Given the description of an element on the screen output the (x, y) to click on. 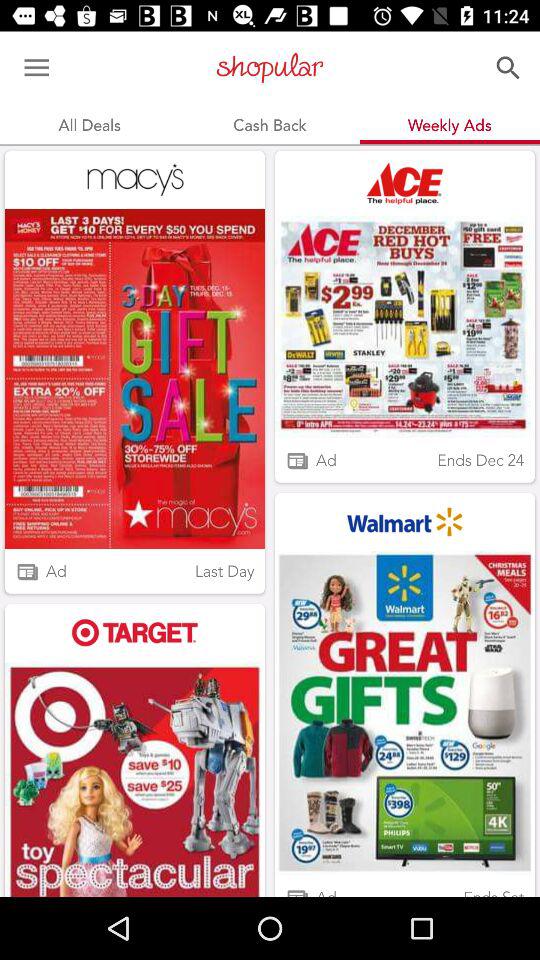
turn off the icon above the all deals (36, 68)
